Given the description of an element on the screen output the (x, y) to click on. 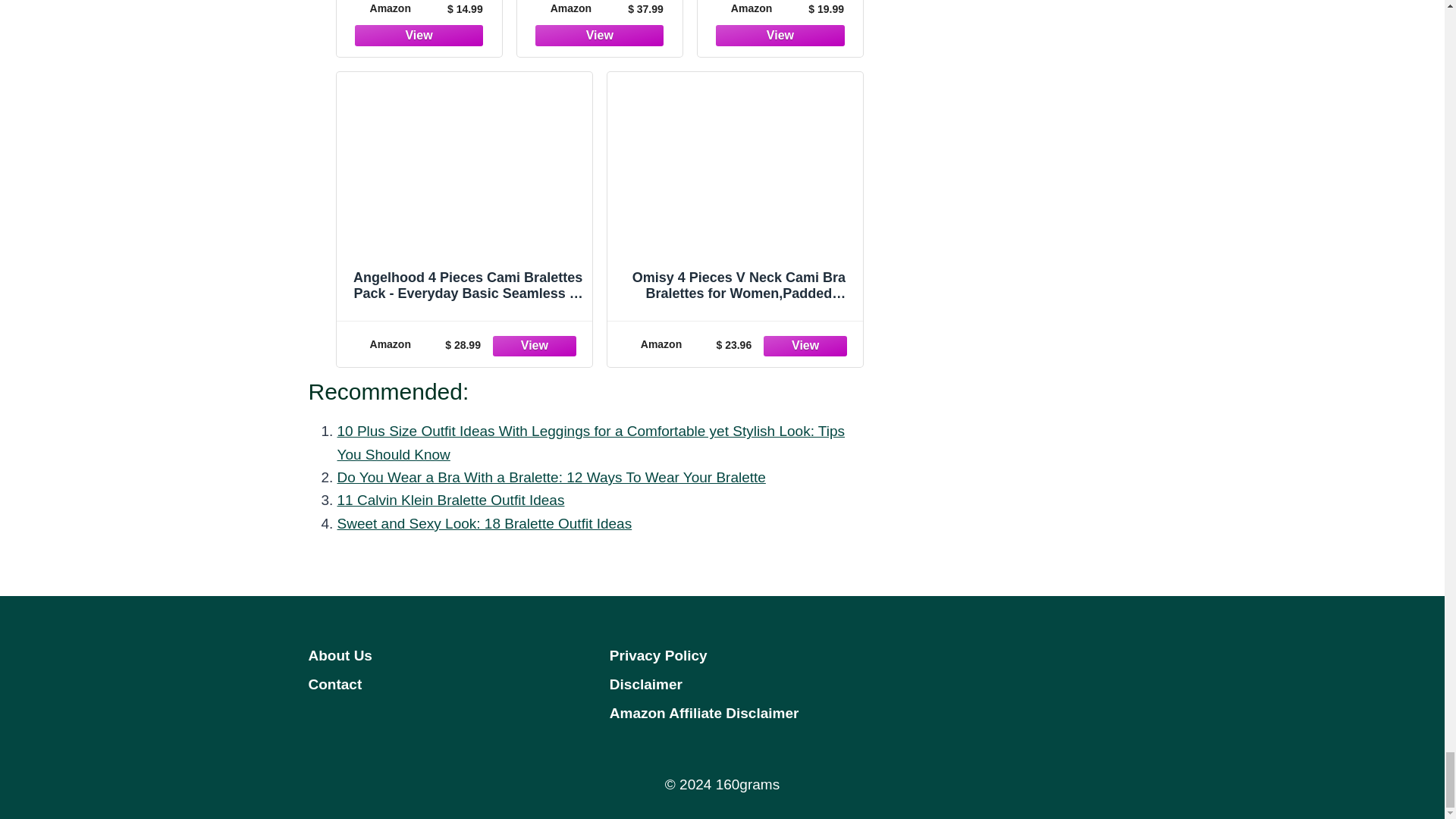
Sweet and Sexy Look: 18 Bralette Outfit Ideas (483, 523)
11 Calvin Klein Bralette Outfit Ideas (450, 499)
